Given the description of an element on the screen output the (x, y) to click on. 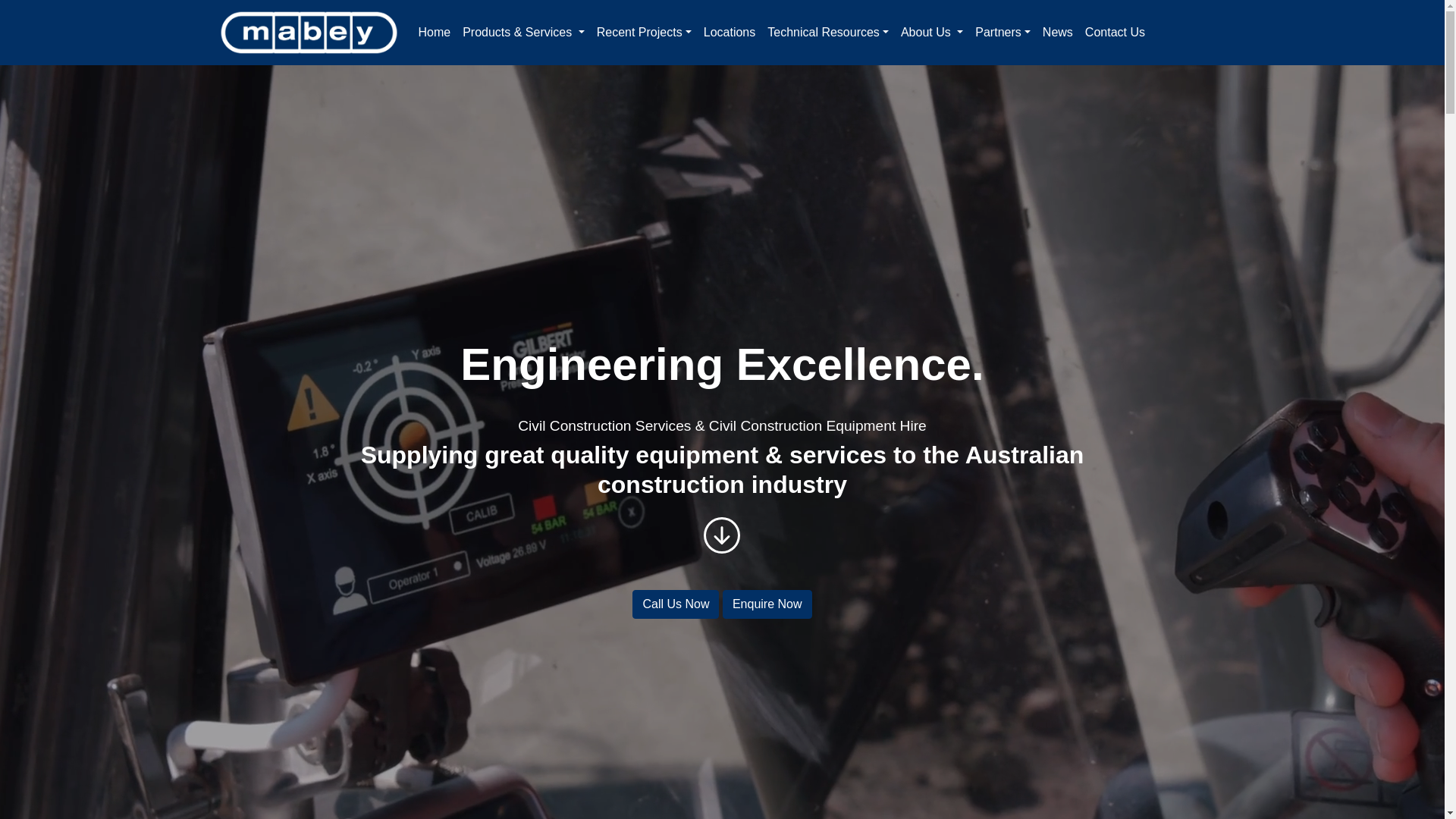
Call Us Now Element type: text (675, 603)
Enquire Now Element type: text (767, 603)
Contact Us Element type: text (1115, 32)
Partners Element type: text (1002, 32)
Locations Element type: text (729, 32)
Products & Services Element type: text (523, 32)
About Us Element type: text (931, 32)
Recent Projects Element type: text (643, 32)
Technical Resources Element type: text (827, 32)
Home Element type: text (433, 32)
News Element type: text (1057, 32)
